Given the description of an element on the screen output the (x, y) to click on. 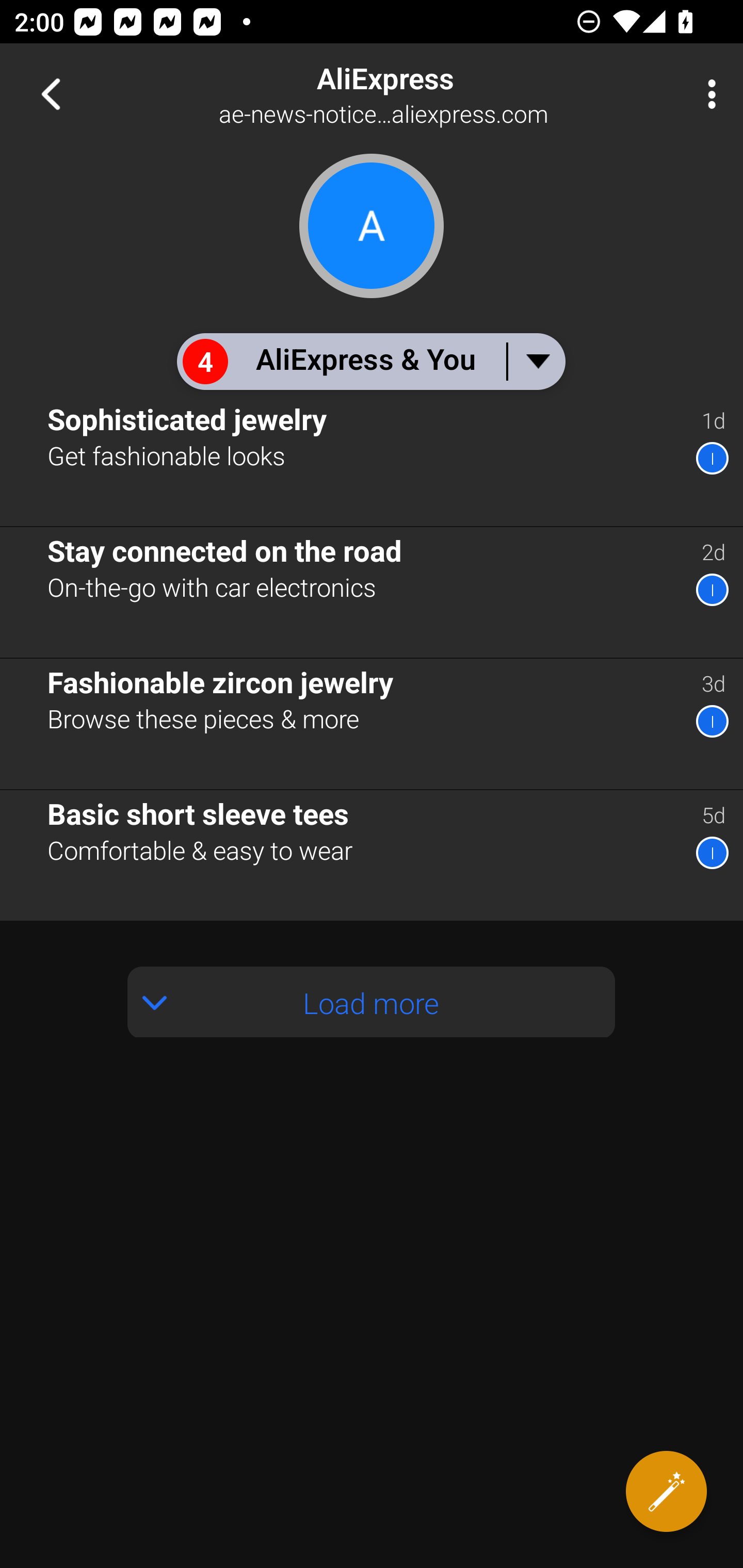
Navigate up (50, 93)
AliExpress ae-news-notice03@mail.aliexpress.com (436, 93)
More Options (706, 93)
4 AliExpress & You (370, 361)
Load more (371, 1001)
